Given the description of an element on the screen output the (x, y) to click on. 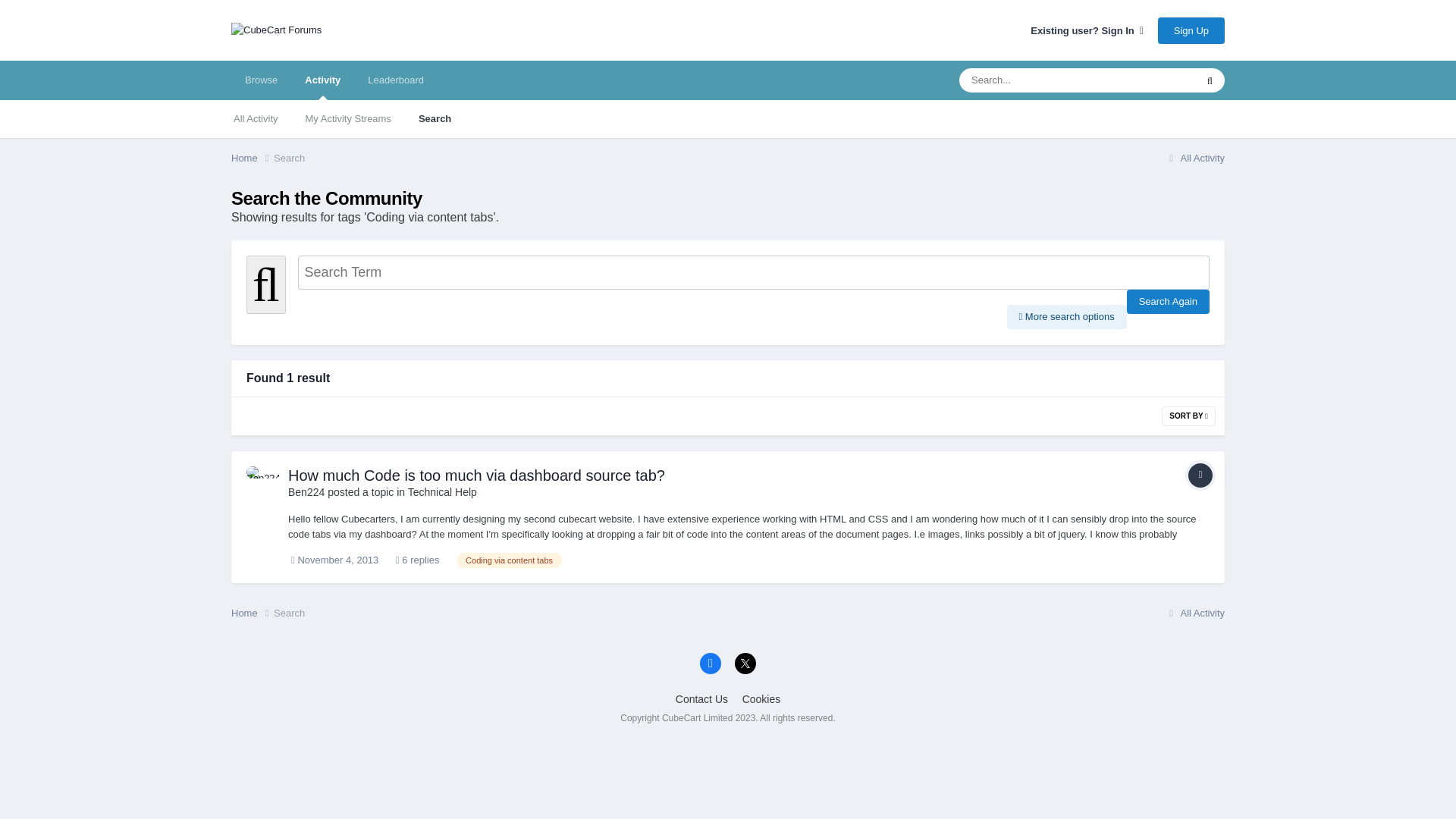
Activity (322, 79)
Search Again (1167, 301)
More search options (1066, 316)
Home (252, 613)
Leaderboard (395, 79)
Home (252, 158)
My Activity Streams (348, 118)
All Activity (255, 118)
Topic (1200, 475)
All Activity (1194, 157)
